Given the description of an element on the screen output the (x, y) to click on. 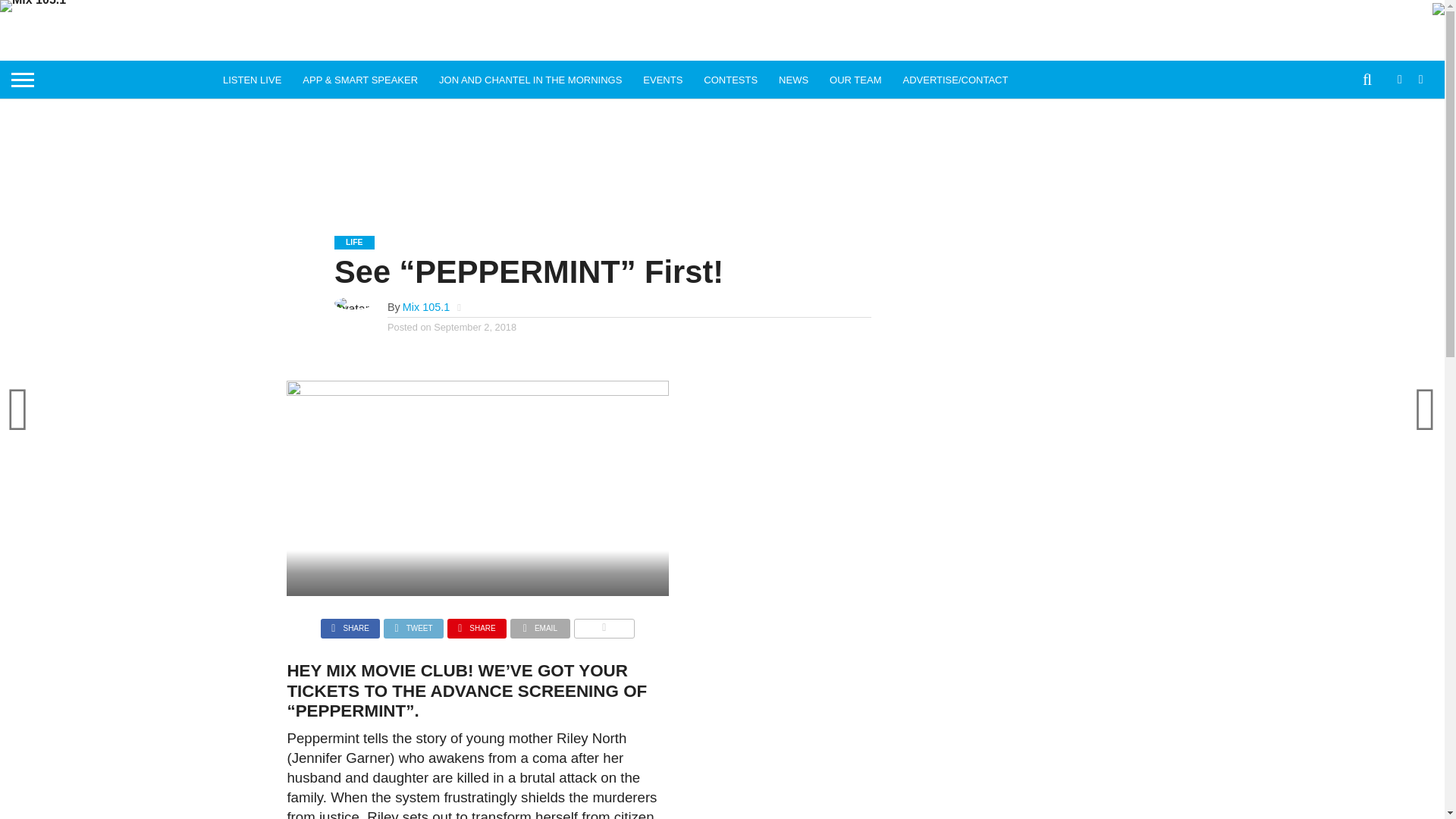
OUR TEAM (854, 79)
TWEET (414, 624)
Posts by Mix 105.1 (426, 306)
SHARE (476, 624)
JON AND CHANTEL IN THE MORNINGS (529, 79)
Share on Facebook (350, 624)
SHARE (350, 624)
EMAIL (540, 624)
LISTEN LIVE (252, 79)
CONTESTS (730, 79)
